Given the description of an element on the screen output the (x, y) to click on. 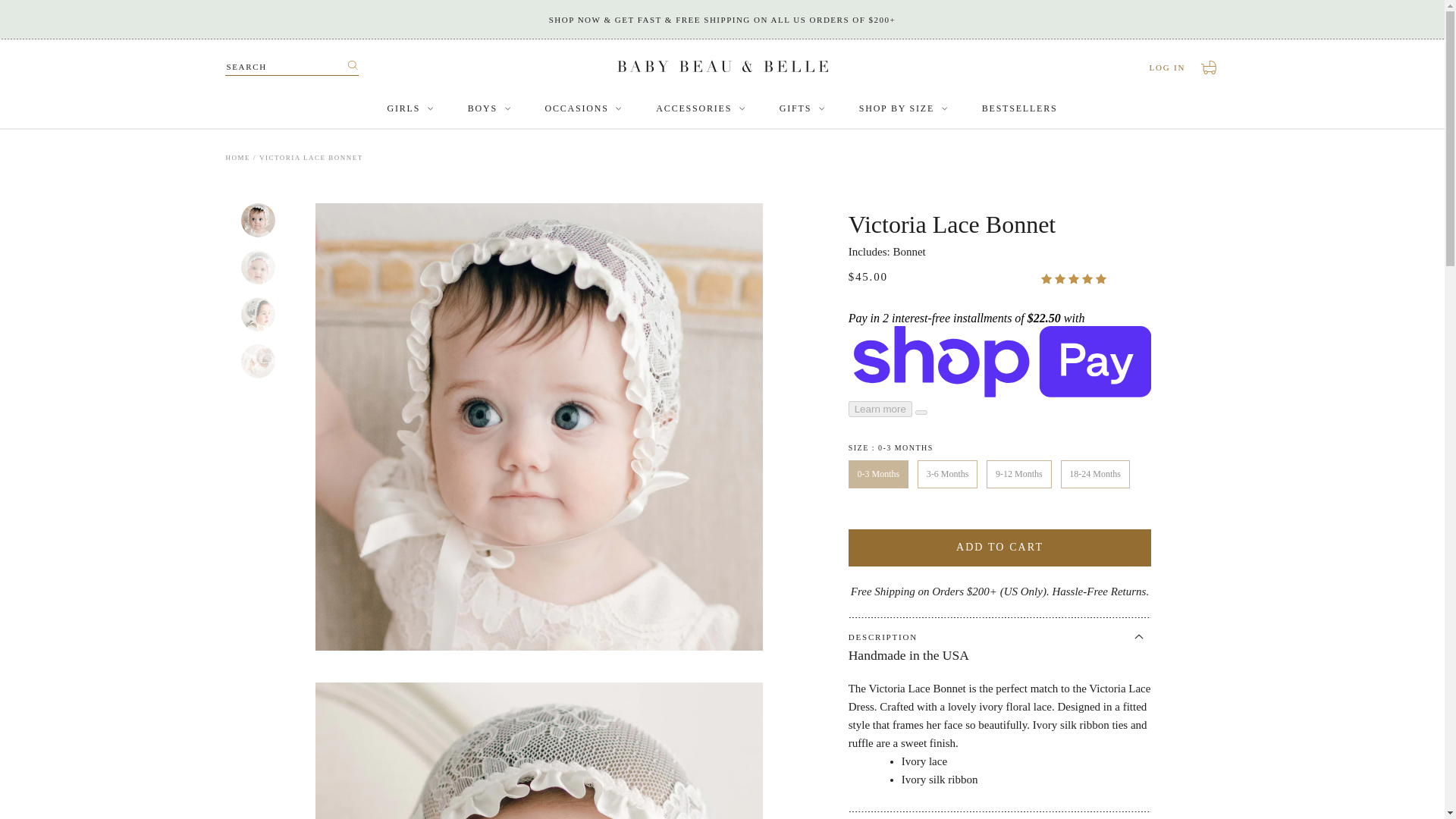
magnifying glass icon (352, 65)
BOYS (489, 109)
Search (352, 67)
Home (237, 157)
LOG IN (1209, 67)
GIRLS (1168, 67)
